Given the description of an element on the screen output the (x, y) to click on. 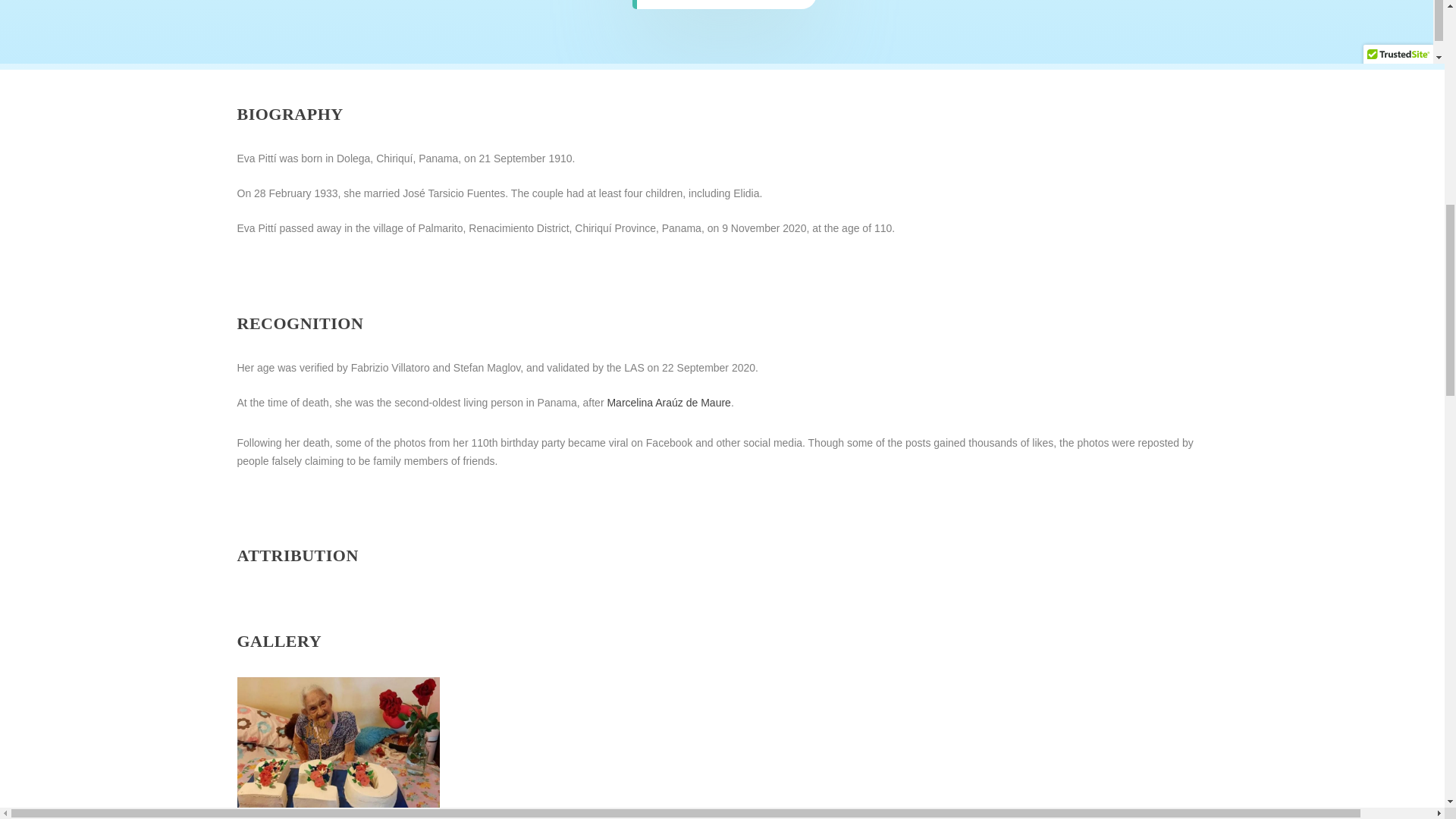
eva pitti 110 (337, 808)
